Given the description of an element on the screen output the (x, y) to click on. 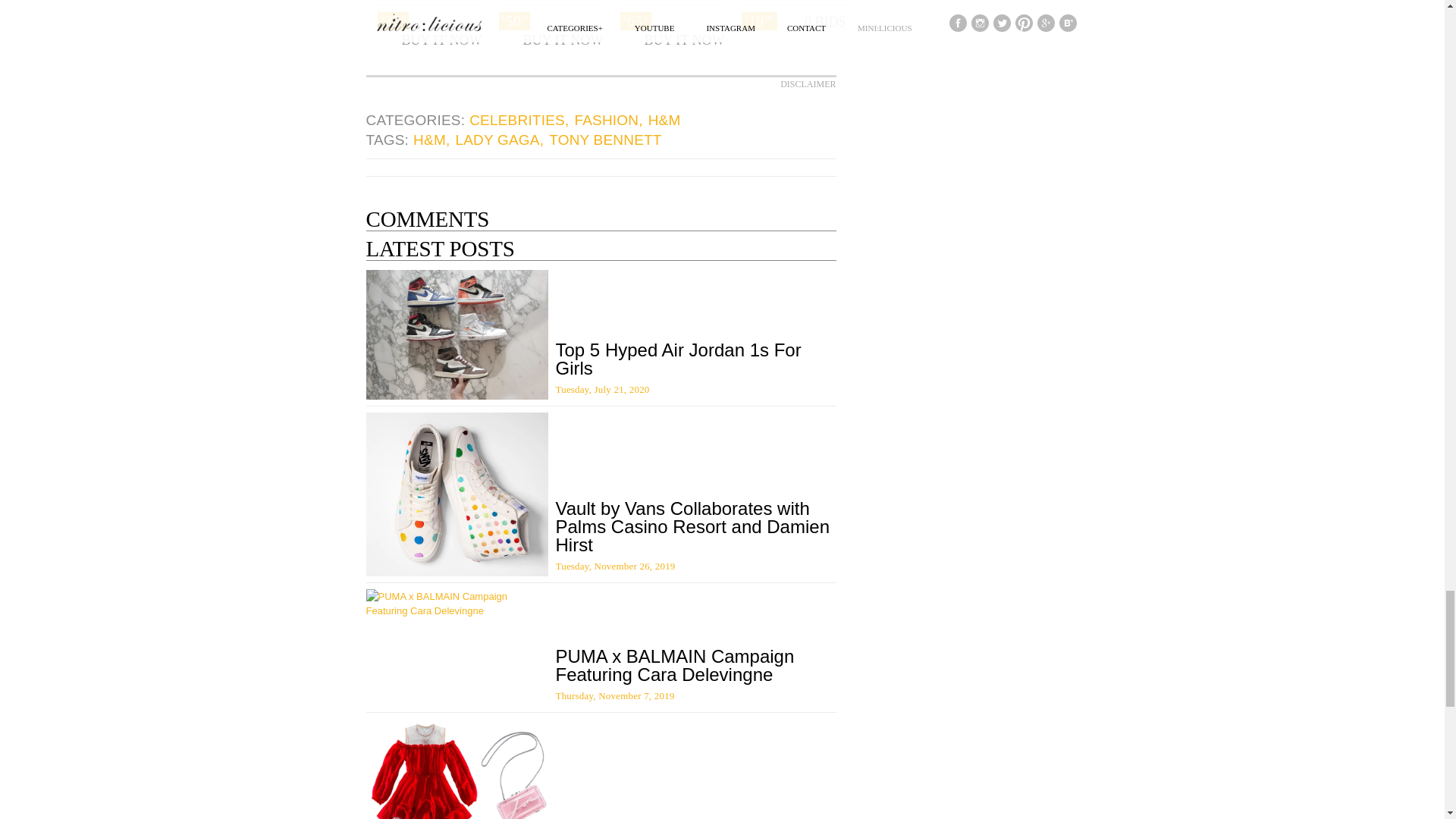
FASHION (609, 119)
CELEBRITIES (519, 119)
DISCLAIMER (807, 84)
